Given the description of an element on the screen output the (x, y) to click on. 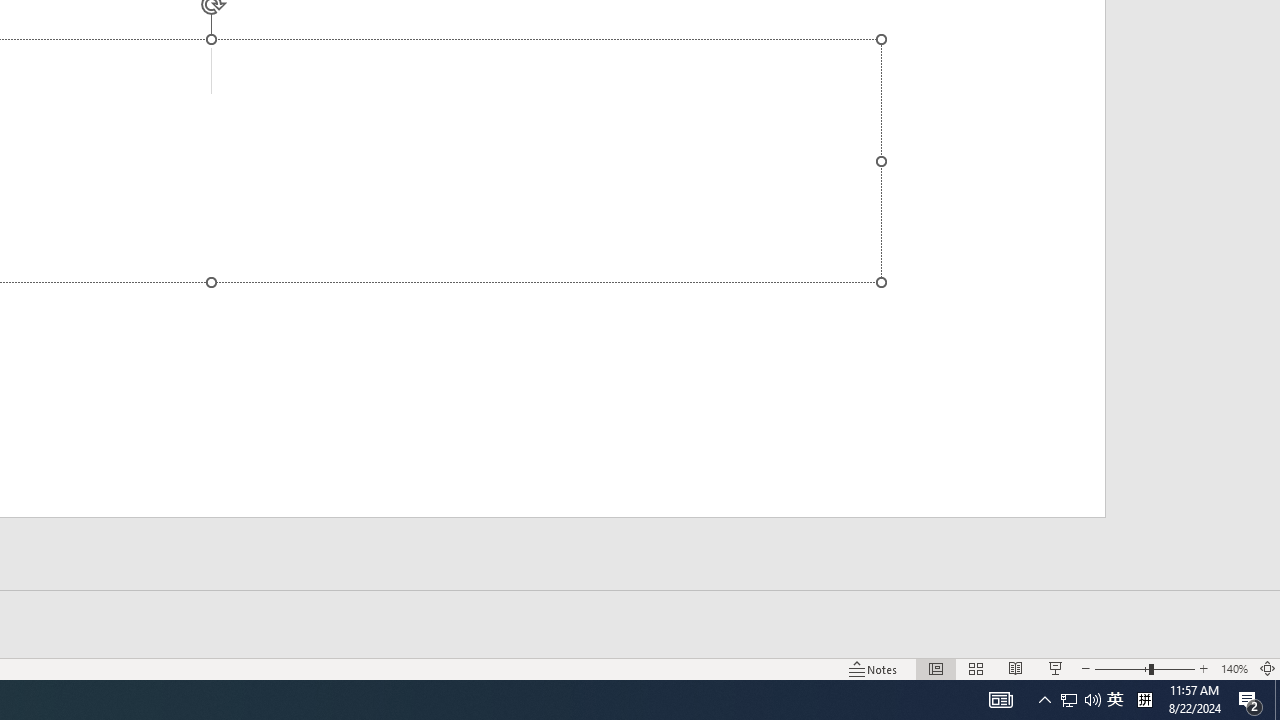
Zoom 140% (1234, 668)
